Given the description of an element on the screen output the (x, y) to click on. 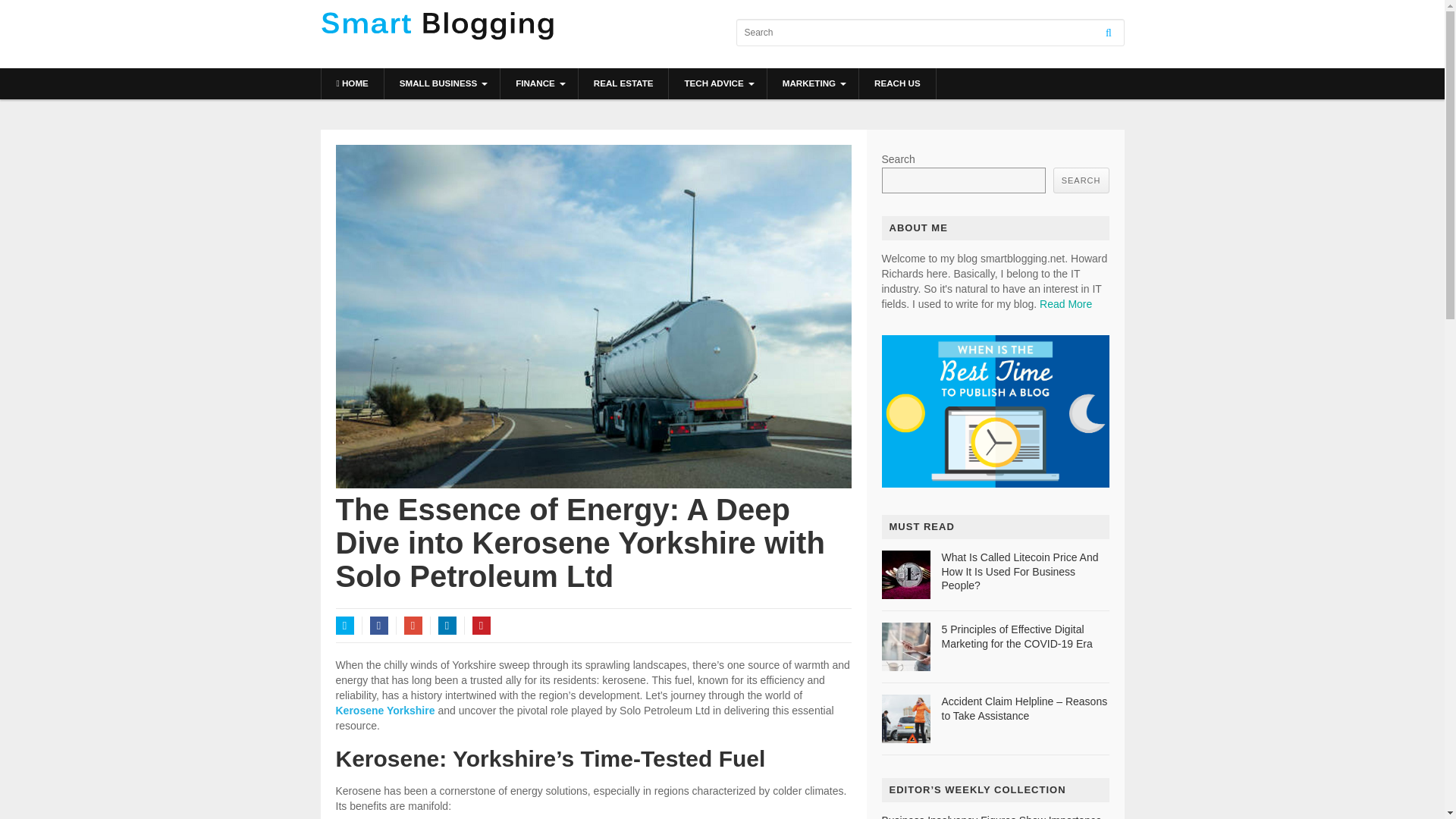
HOME (352, 83)
Find Now (994, 483)
SMALL BUSINESS (441, 83)
FINANCE (539, 83)
